Given the description of an element on the screen output the (x, y) to click on. 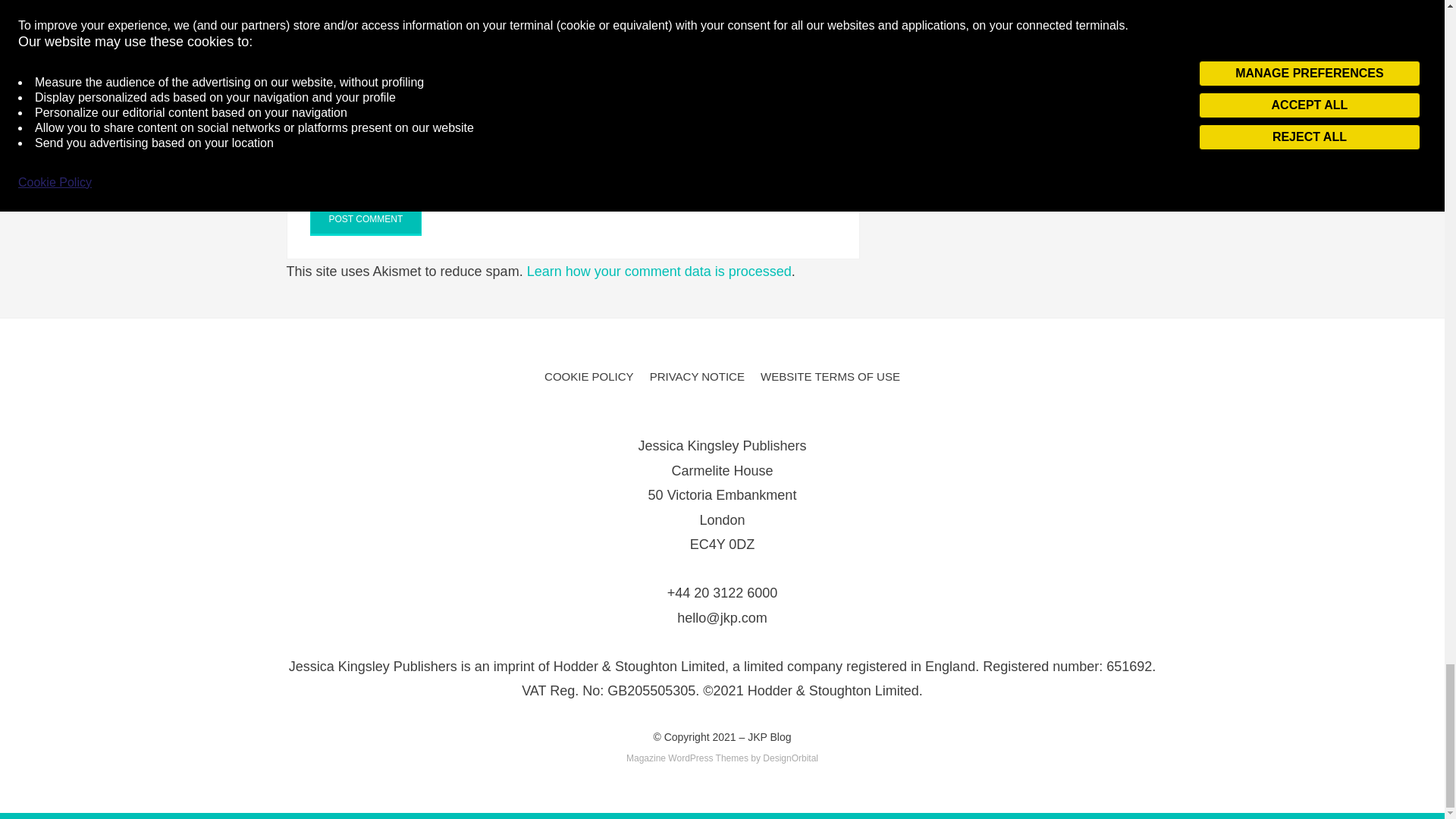
yes (313, 142)
Post Comment (365, 219)
